Given the description of an element on the screen output the (x, y) to click on. 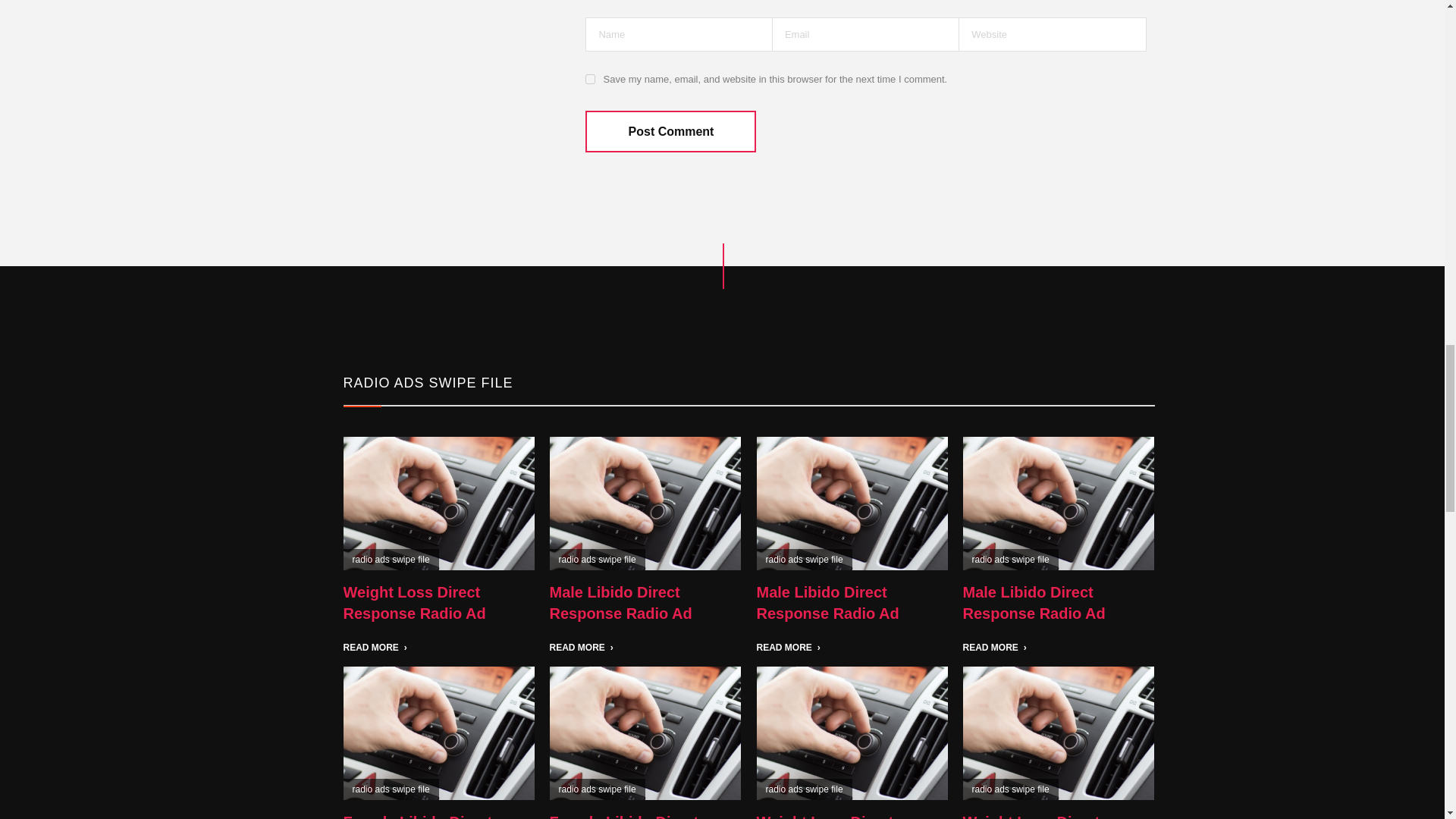
radio (644, 502)
Weight Loss Direct Response Radio Ad (828, 816)
radio (438, 502)
Male Libido Direct Response Radio Ad (619, 602)
READ MORE (853, 646)
Weight Loss Direct Response Radio Ad (1033, 816)
radio (1058, 502)
Male Libido Direct Response Radio Ad (828, 602)
radio ads swipe file (390, 559)
Male Libido Direct Response Radio Ad (619, 602)
radio ads swipe file (804, 559)
Weight Loss Direct Response Radio Ad (413, 602)
RADIO ADS SWIPE FILE (427, 382)
radio ads swipe file (1010, 559)
radio (853, 502)
